Given the description of an element on the screen output the (x, y) to click on. 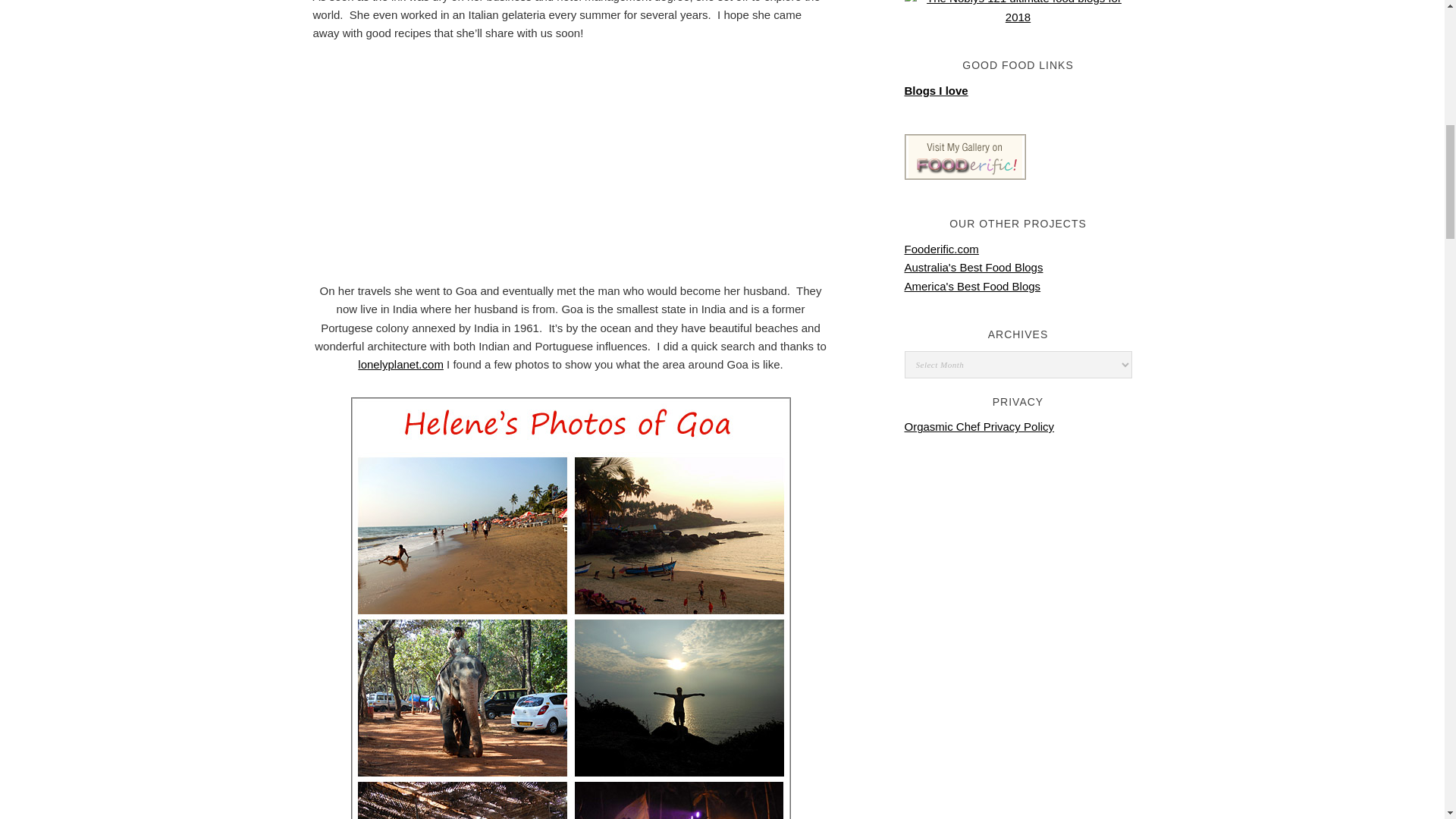
lonelyplanet.com (401, 364)
lonely planet (401, 364)
Advertisement (570, 172)
